Given the description of an element on the screen output the (x, y) to click on. 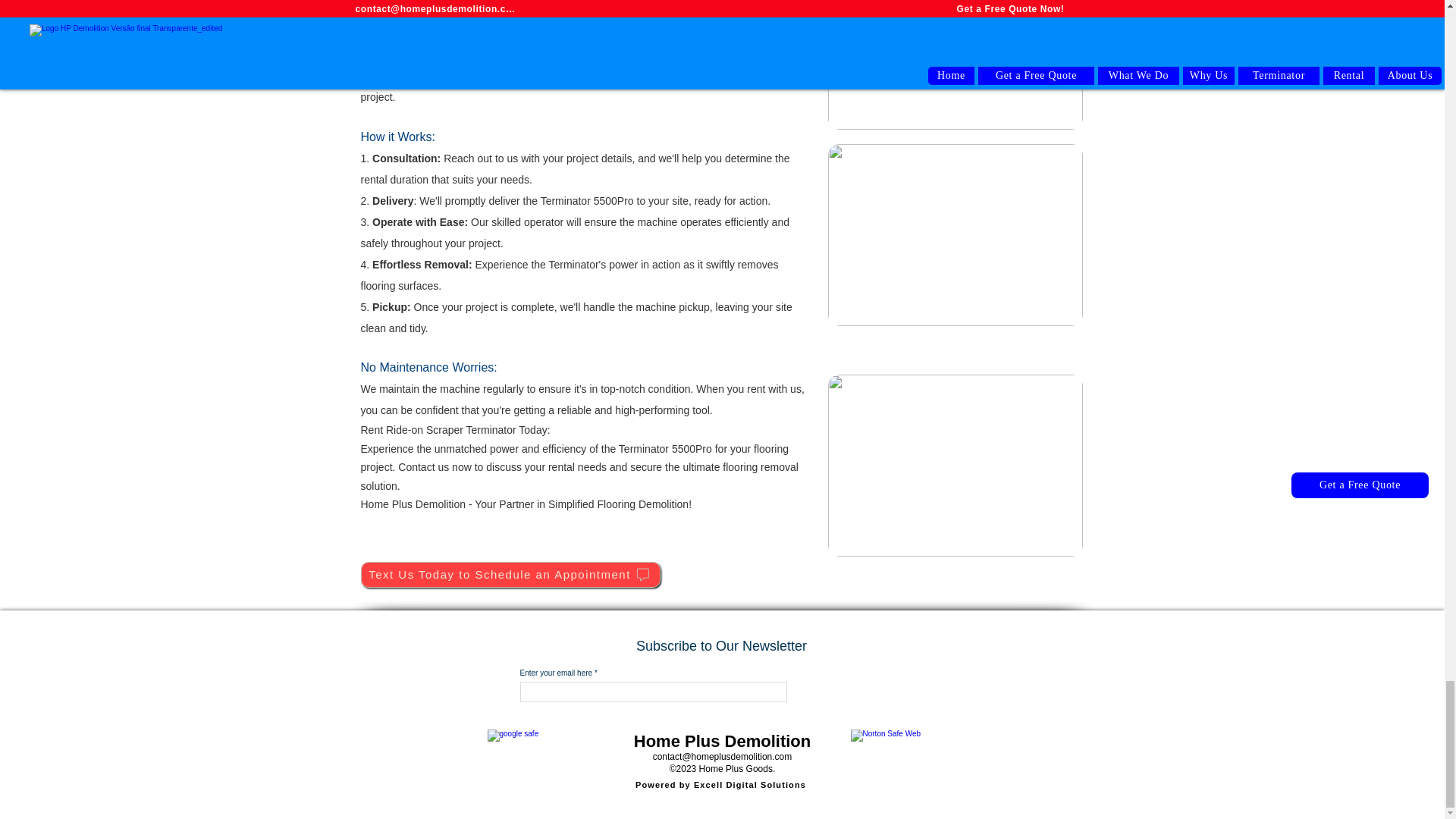
Powered by Excell Digital Solutions (720, 784)
Text Us Today to Schedule an Appointment (511, 574)
